Given the description of an element on the screen output the (x, y) to click on. 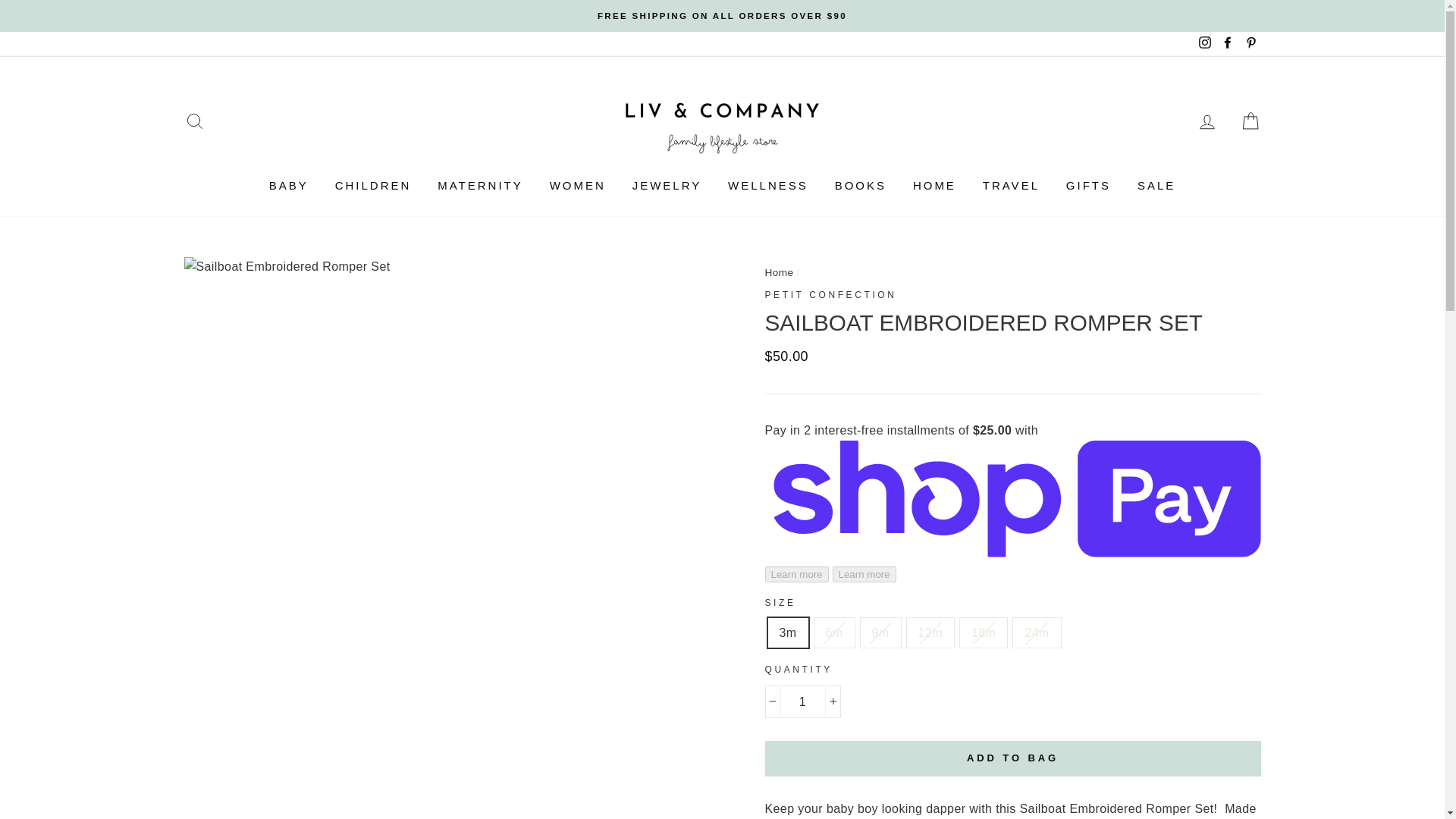
Petit Confection (830, 294)
Back to the frontpage (778, 272)
1 (802, 702)
